Given the description of an element on the screen output the (x, y) to click on. 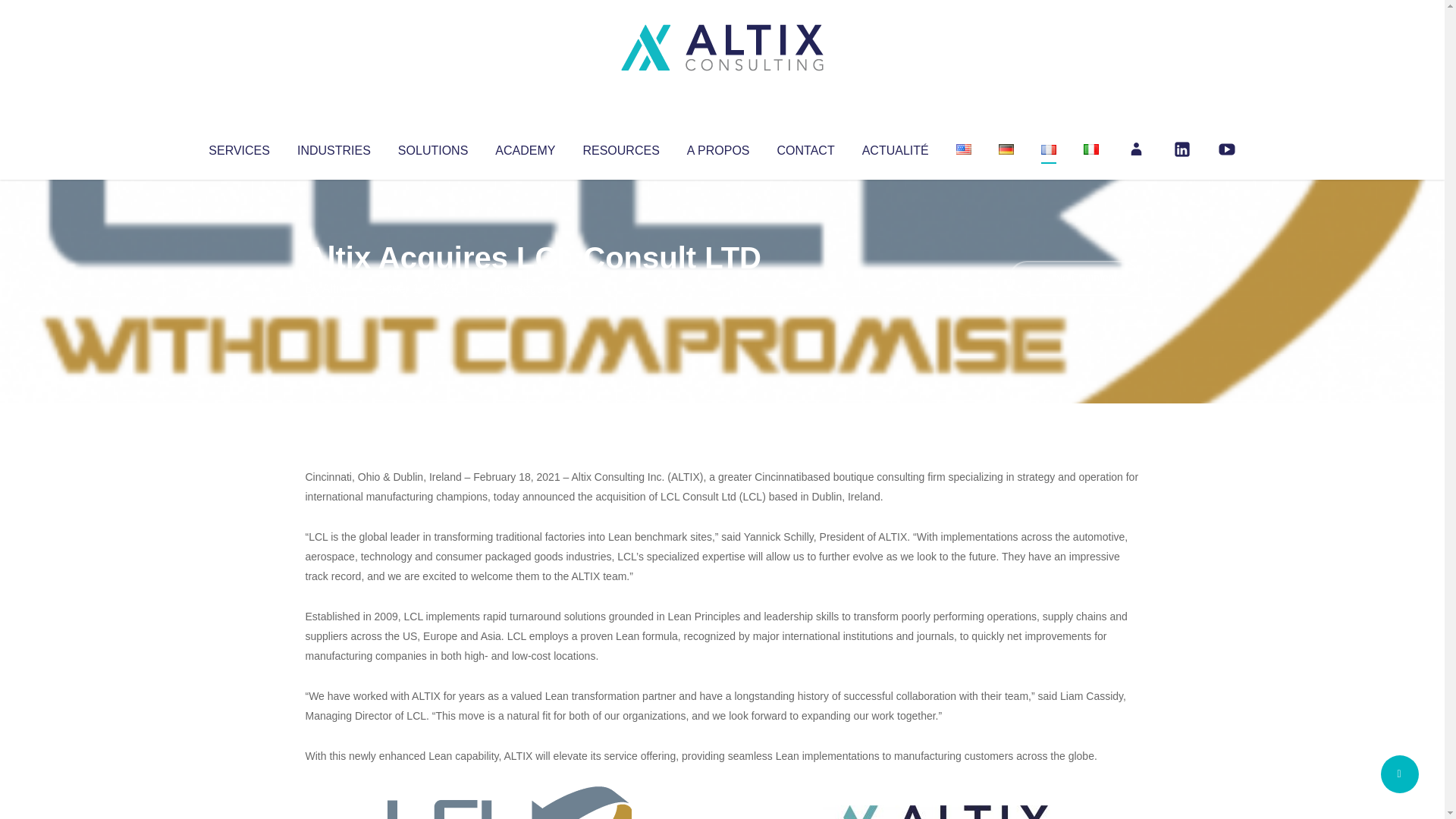
No Comments (1073, 278)
A PROPOS (718, 146)
SOLUTIONS (432, 146)
Articles par Altix (333, 287)
ACADEMY (524, 146)
Altix (333, 287)
INDUSTRIES (334, 146)
Uncategorized (530, 287)
SERVICES (238, 146)
RESOURCES (620, 146)
